Given the description of an element on the screen output the (x, y) to click on. 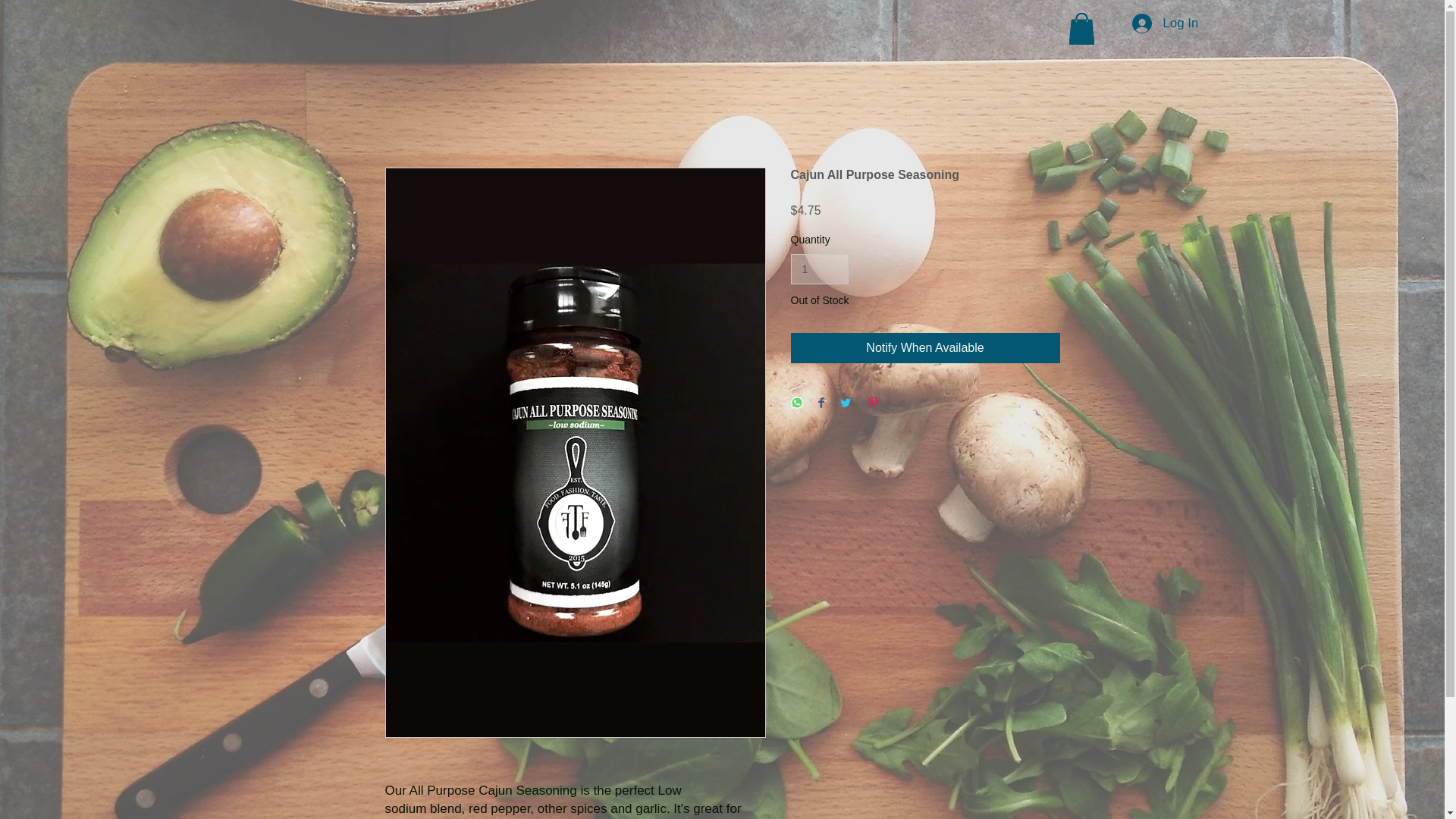
Log In (1164, 23)
Notify When Available (924, 347)
1 (818, 269)
